Given the description of an element on the screen output the (x, y) to click on. 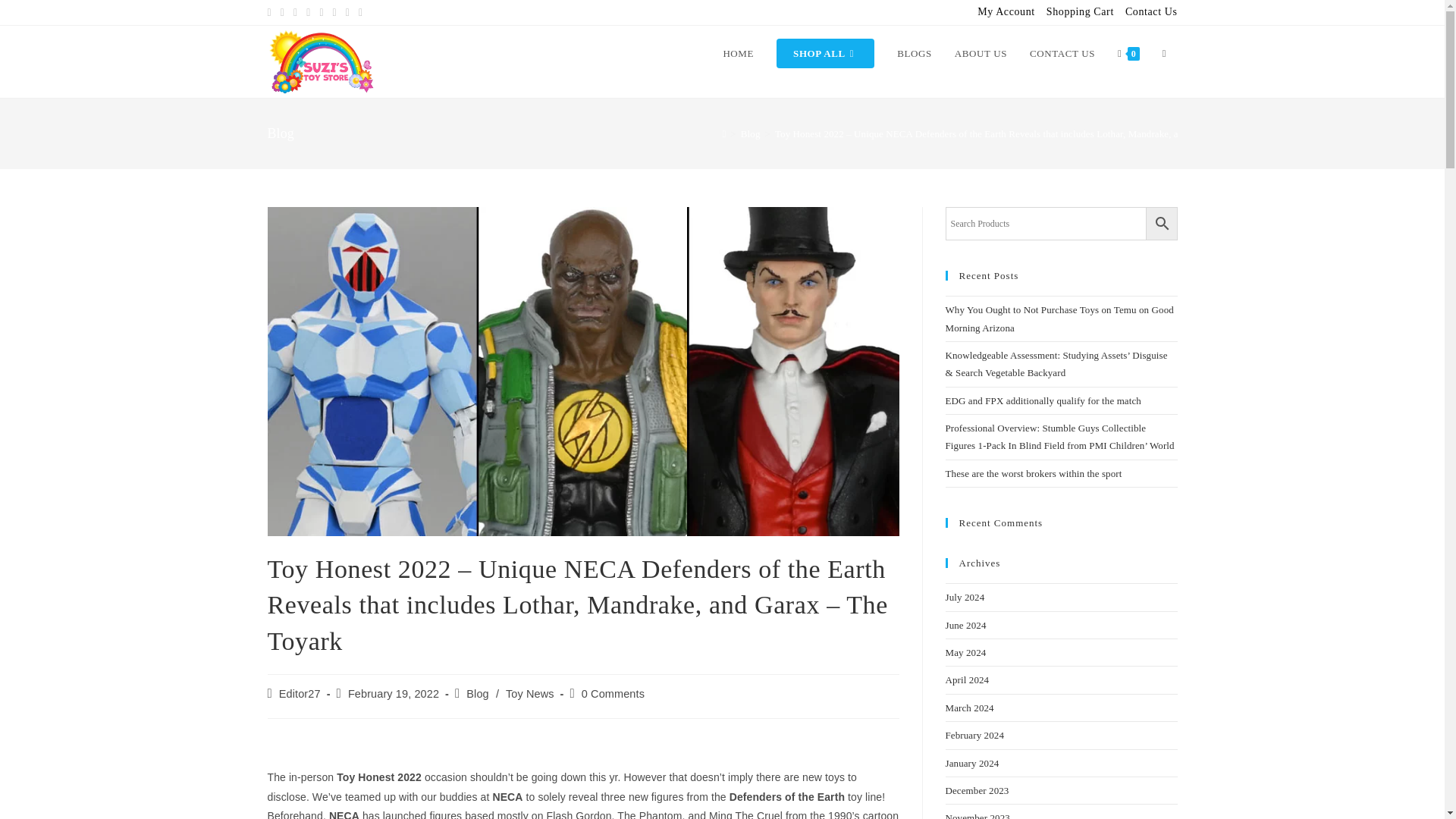
My Account (1005, 11)
Contact Us (1151, 11)
Shopping Cart (1079, 11)
SHOP ALL (825, 53)
HOME (738, 53)
Posts by Editor27 (299, 693)
